Given the description of an element on the screen output the (x, y) to click on. 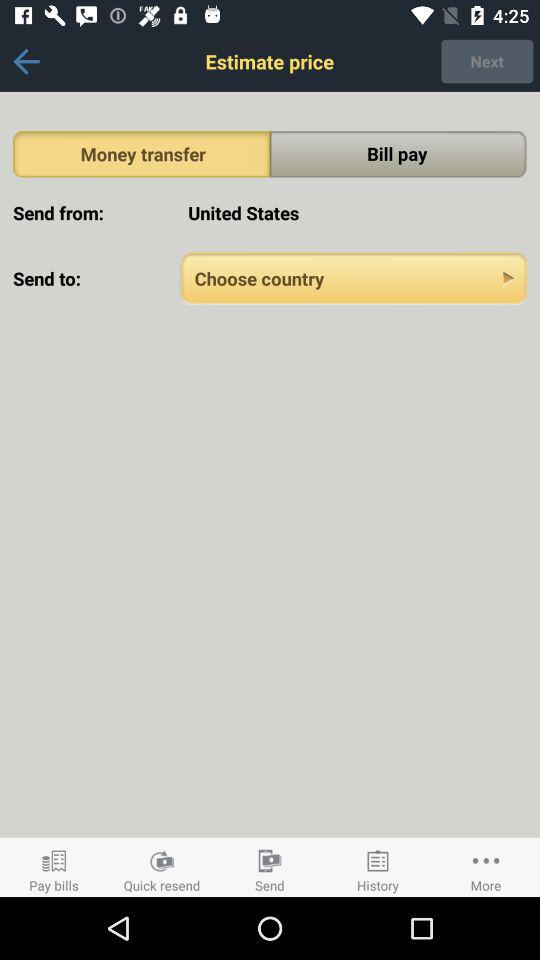
go back (26, 61)
